Given the description of an element on the screen output the (x, y) to click on. 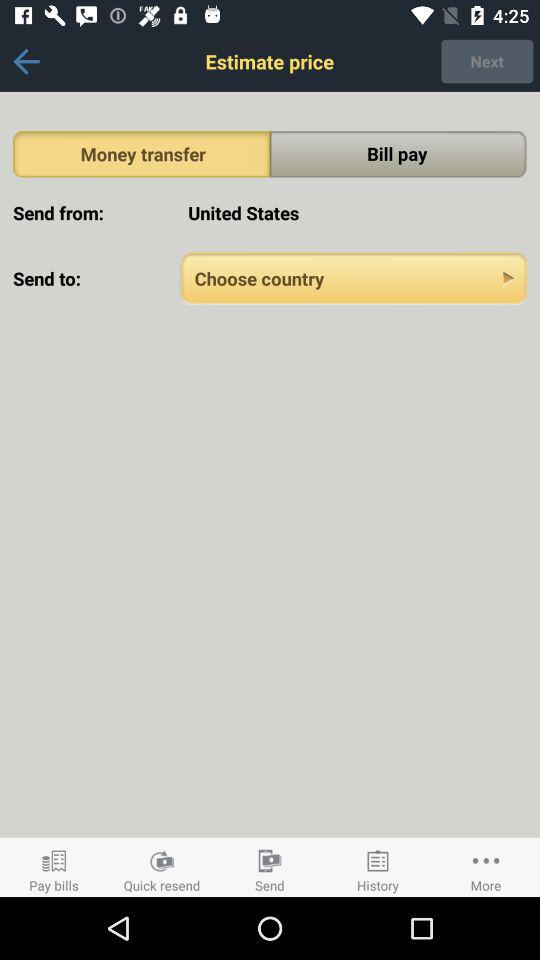
go back (26, 61)
